Given the description of an element on the screen output the (x, y) to click on. 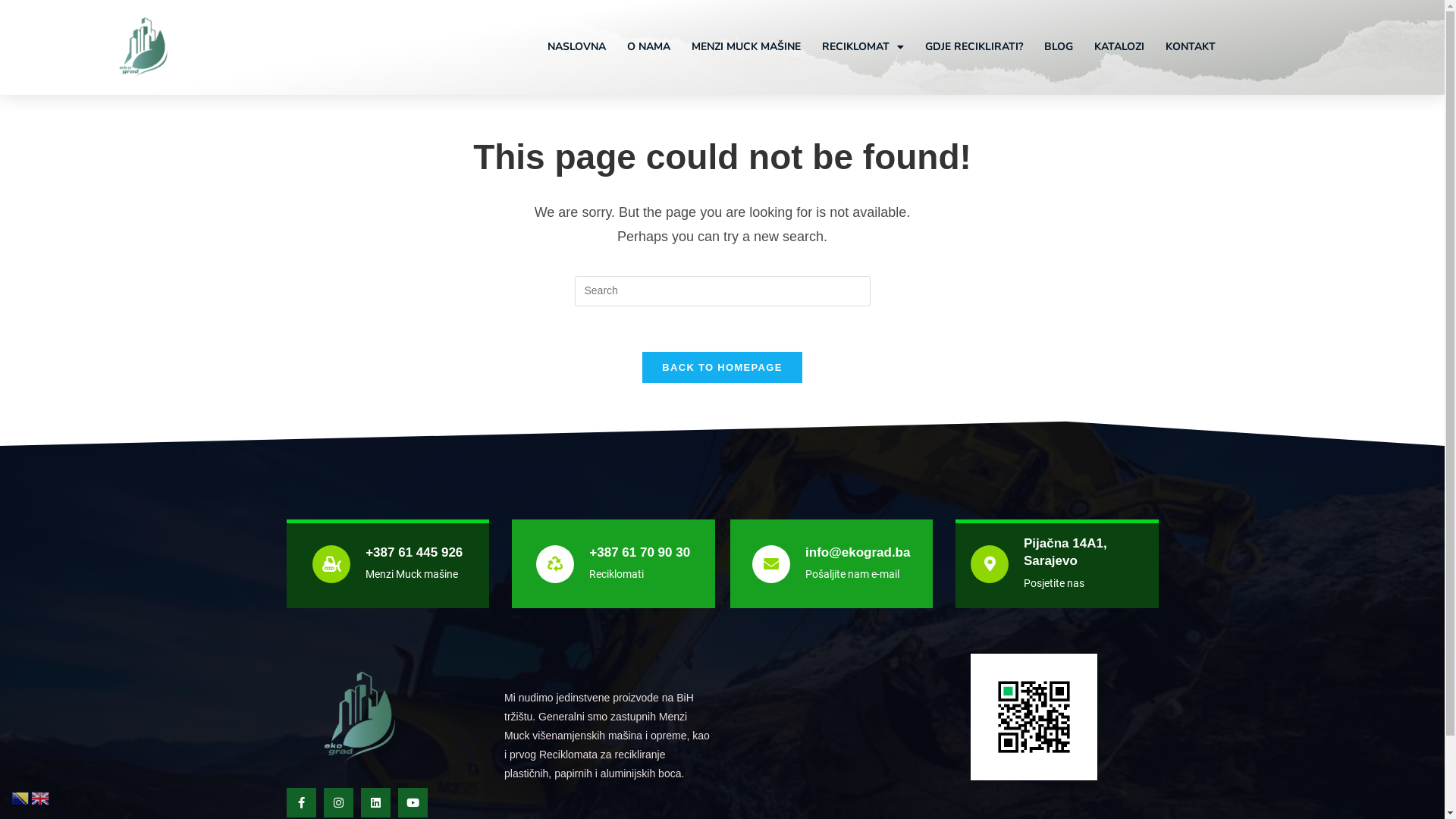
KATALOZI Element type: text (1119, 46)
+387 61 70 90 30 Element type: text (639, 552)
English Element type: hover (40, 797)
GDJE RECIKLIRATI? Element type: text (973, 46)
Bosnian Element type: hover (21, 797)
BACK TO HOMEPAGE Element type: text (721, 366)
BLOG Element type: text (1058, 46)
+387 61 445 926 Element type: text (413, 552)
NASLOVNA Element type: text (576, 46)
KONTAKT Element type: text (1190, 46)
O NAMA Element type: text (648, 46)
RECIKLOMAT Element type: text (862, 46)
